Given the description of an element on the screen output the (x, y) to click on. 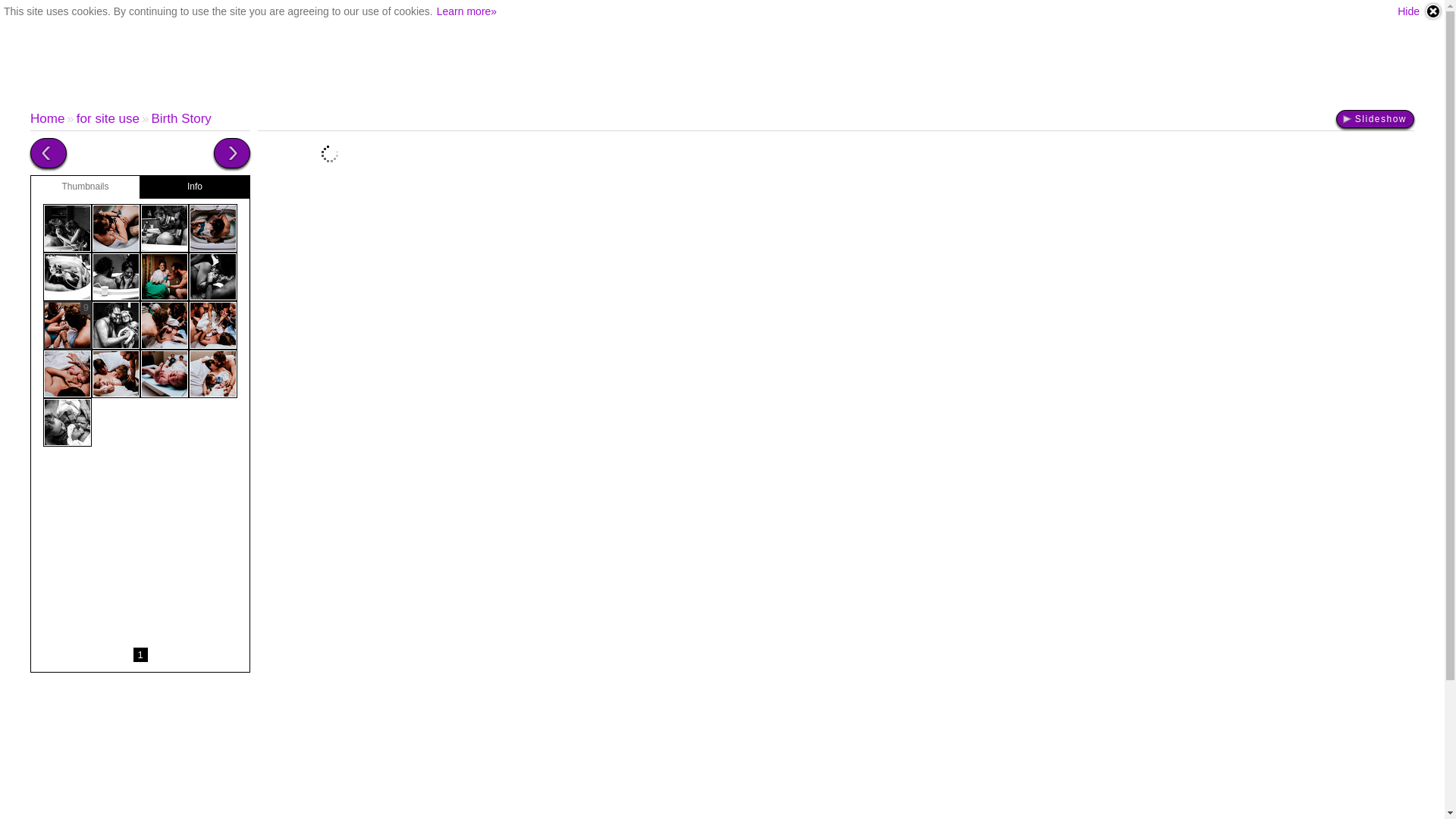
Hide Element type: text (1419, 11)
for site use Element type: text (107, 118)
1 Element type: text (140, 654)
Home Element type: text (47, 118)
9 Element type: text (67, 325)
Previous - type Left Arrow Element type: hover (48, 153)
Birth Story Element type: text (180, 118)
Next - type Right Arrow Element type: hover (231, 153)
